Given the description of an element on the screen output the (x, y) to click on. 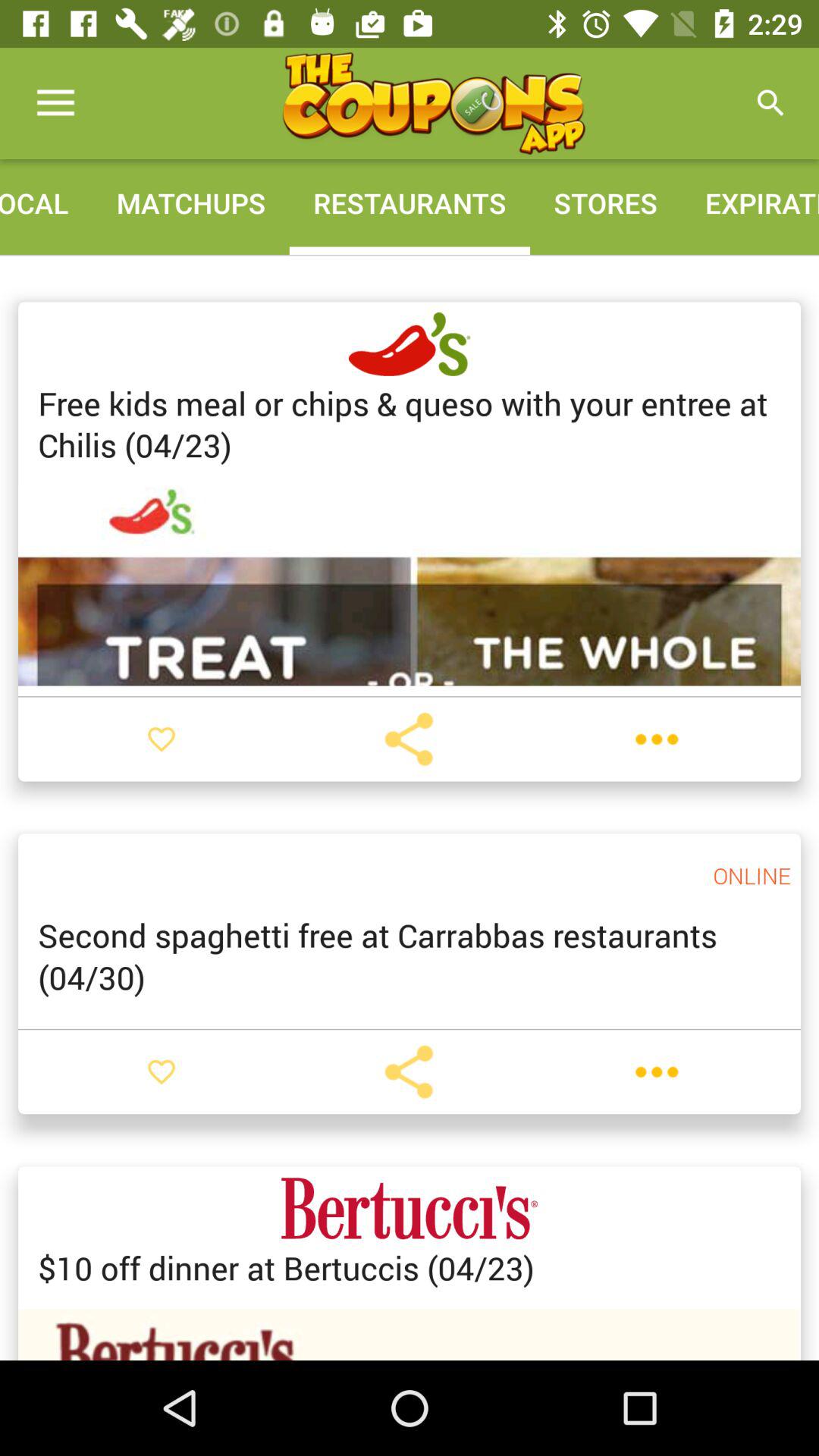
scroll to matchups (190, 202)
